Given the description of an element on the screen output the (x, y) to click on. 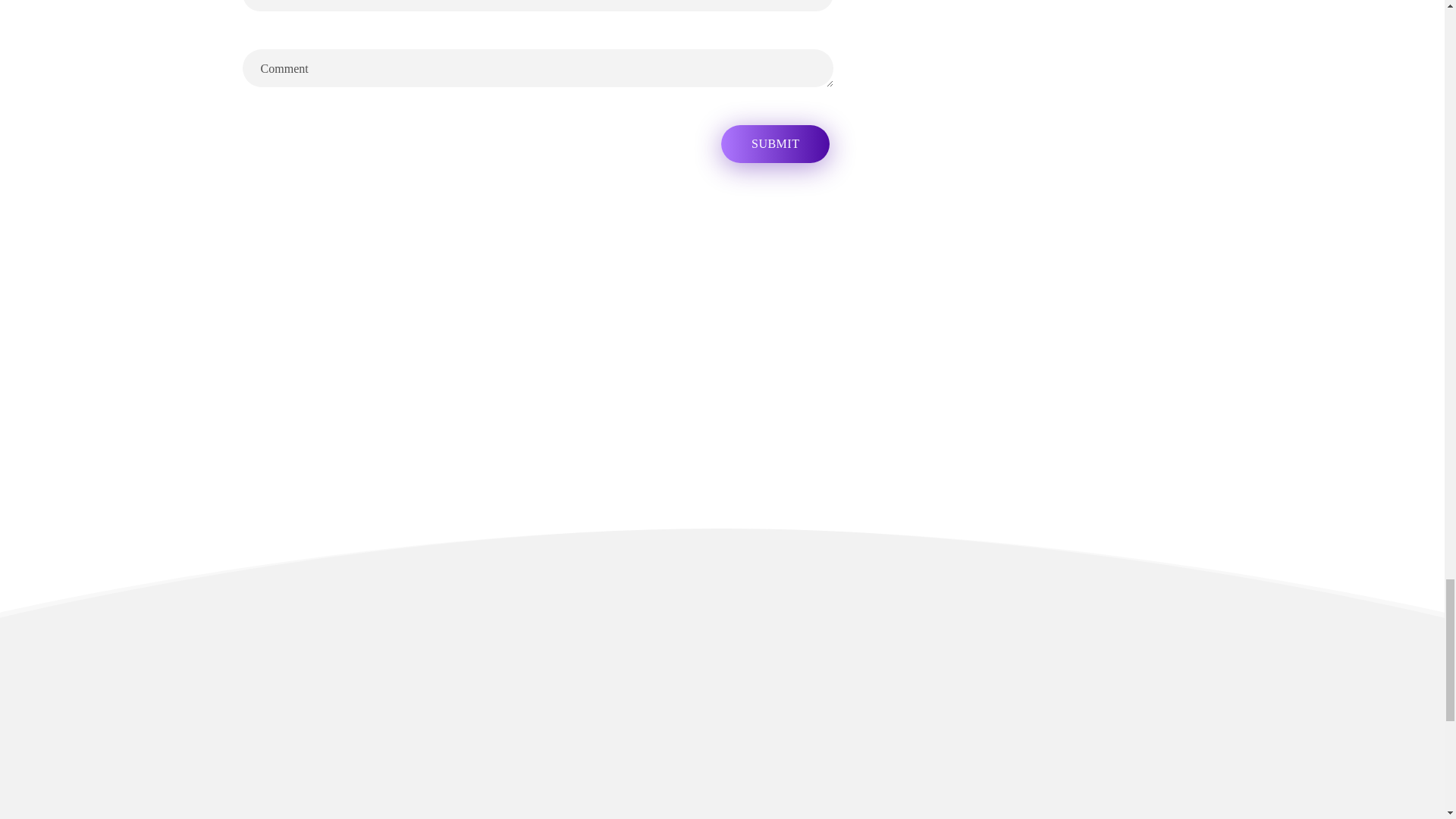
Submit (774, 143)
Submit (774, 143)
